Given the description of an element on the screen output the (x, y) to click on. 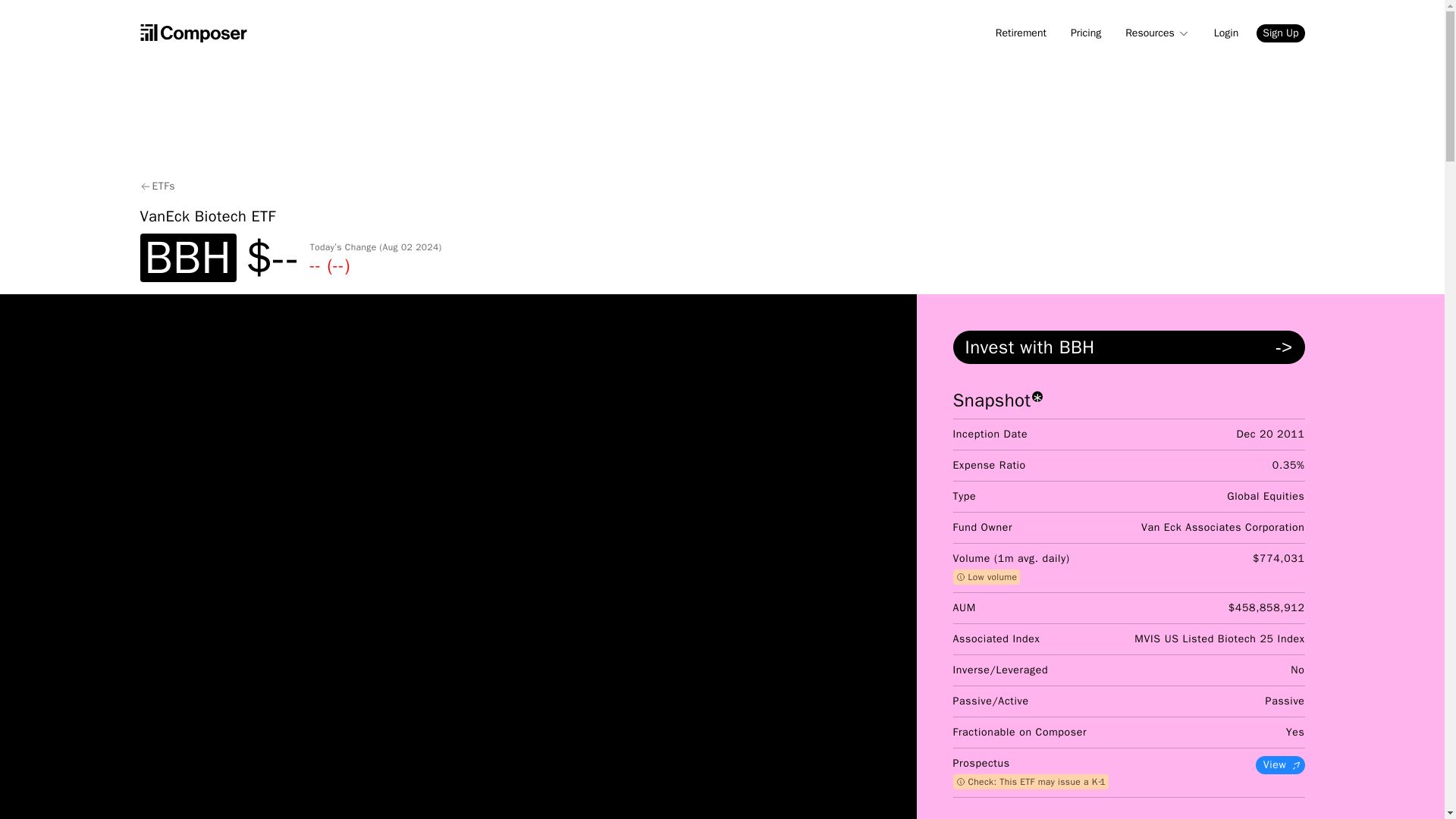
Retirement (1021, 33)
Invest with BBH (1128, 346)
Sign Up (1280, 33)
Low volume (986, 575)
Login (1226, 33)
View (1279, 764)
ETFs (162, 186)
Resources (1157, 32)
Pricing (1085, 33)
